Given the description of an element on the screen output the (x, y) to click on. 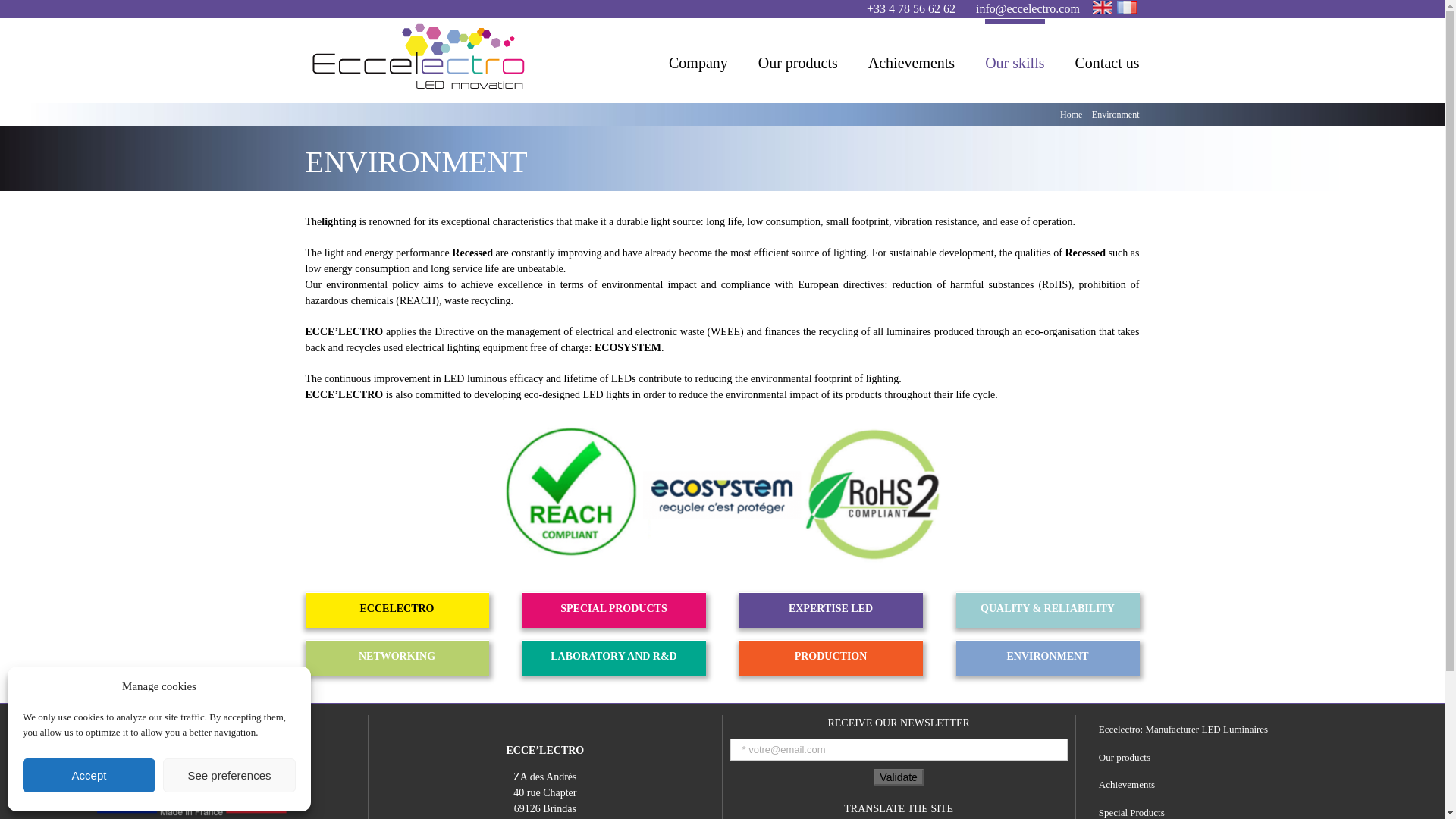
expertise LED (829, 608)
LABORATORY (612, 655)
Our products (798, 60)
English (1102, 7)
NETWORKING (395, 655)
LED Light EcodesignEnvironmental Sustainability (722, 493)
Company (698, 60)
See preferences (229, 775)
ENVIRONMENT (1046, 655)
Accept (89, 775)
Validate (898, 777)
ECCELECTRO (395, 608)
 SPECIAL PRODUCTS (612, 608)
PRODUCTION (829, 655)
